Given the description of an element on the screen output the (x, y) to click on. 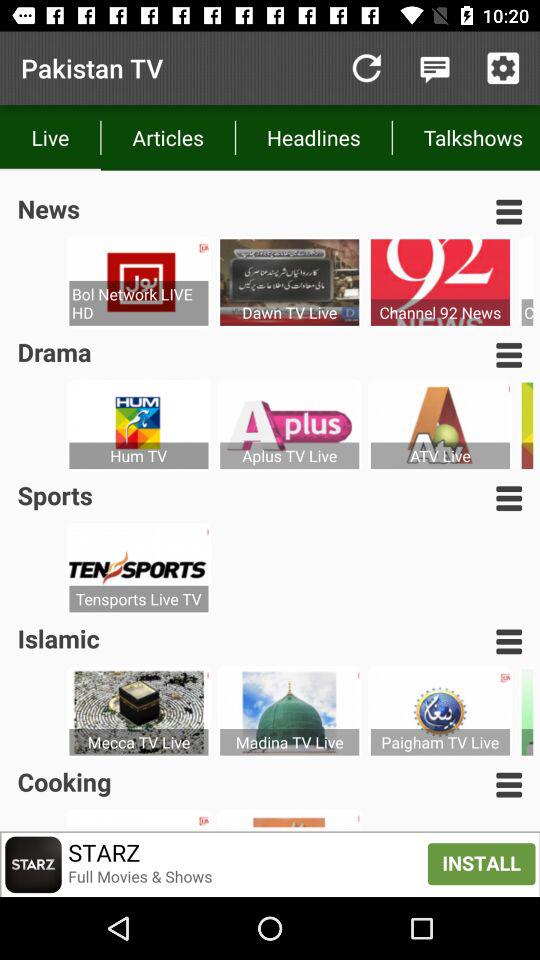
notifications (434, 67)
